Given the description of an element on the screen output the (x, y) to click on. 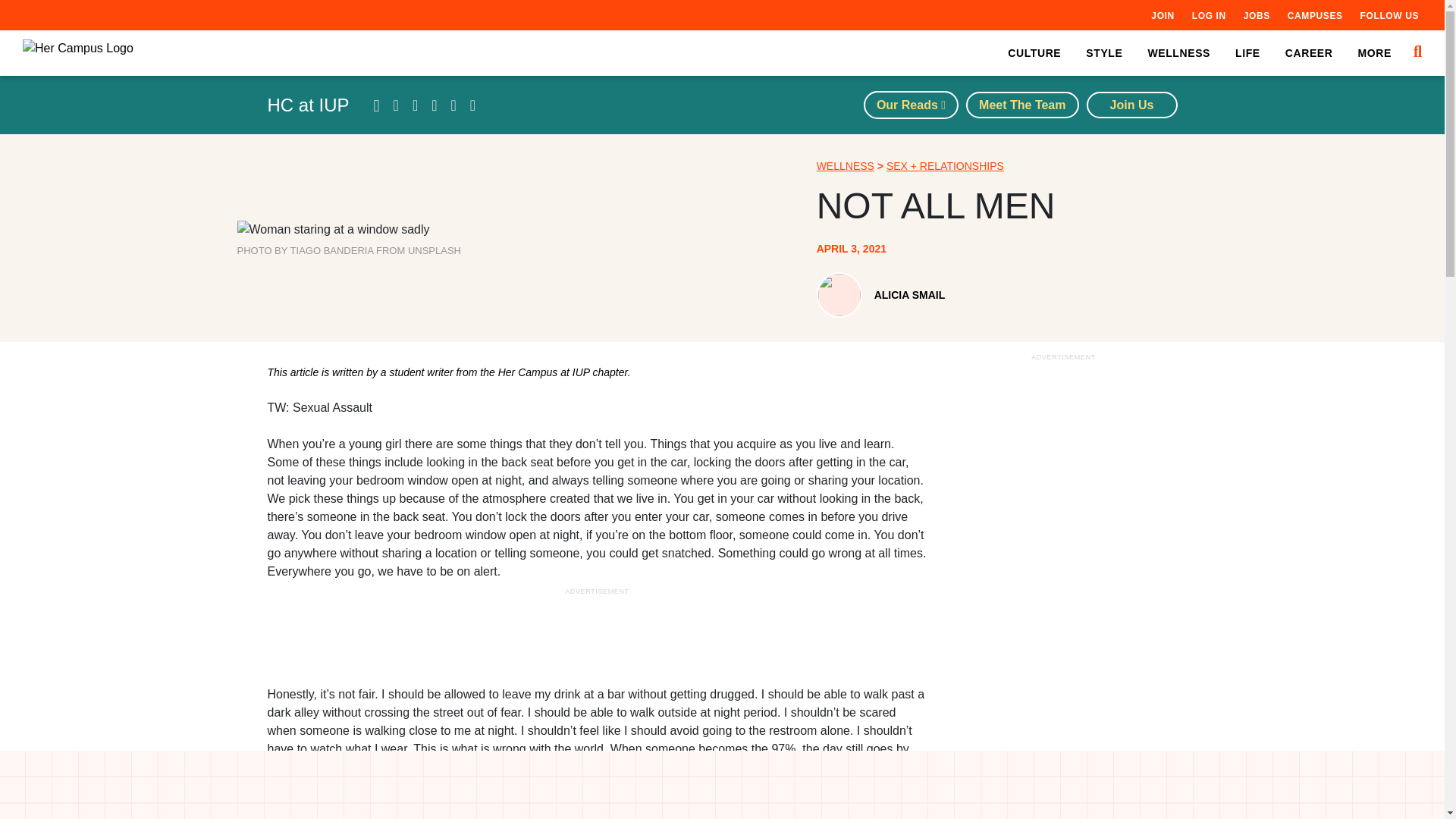
JOIN (1162, 15)
CAMPUSES (1314, 15)
LOG IN (1208, 15)
JOBS (1256, 15)
Not All Men 1 (332, 229)
